Given the description of an element on the screen output the (x, y) to click on. 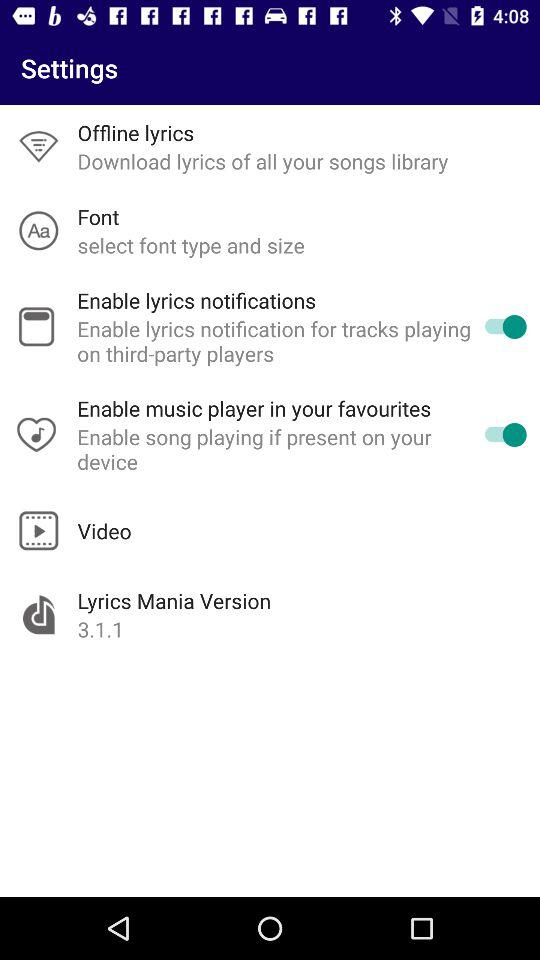
tap icon above the 3.1.1 item (174, 600)
